Given the description of an element on the screen output the (x, y) to click on. 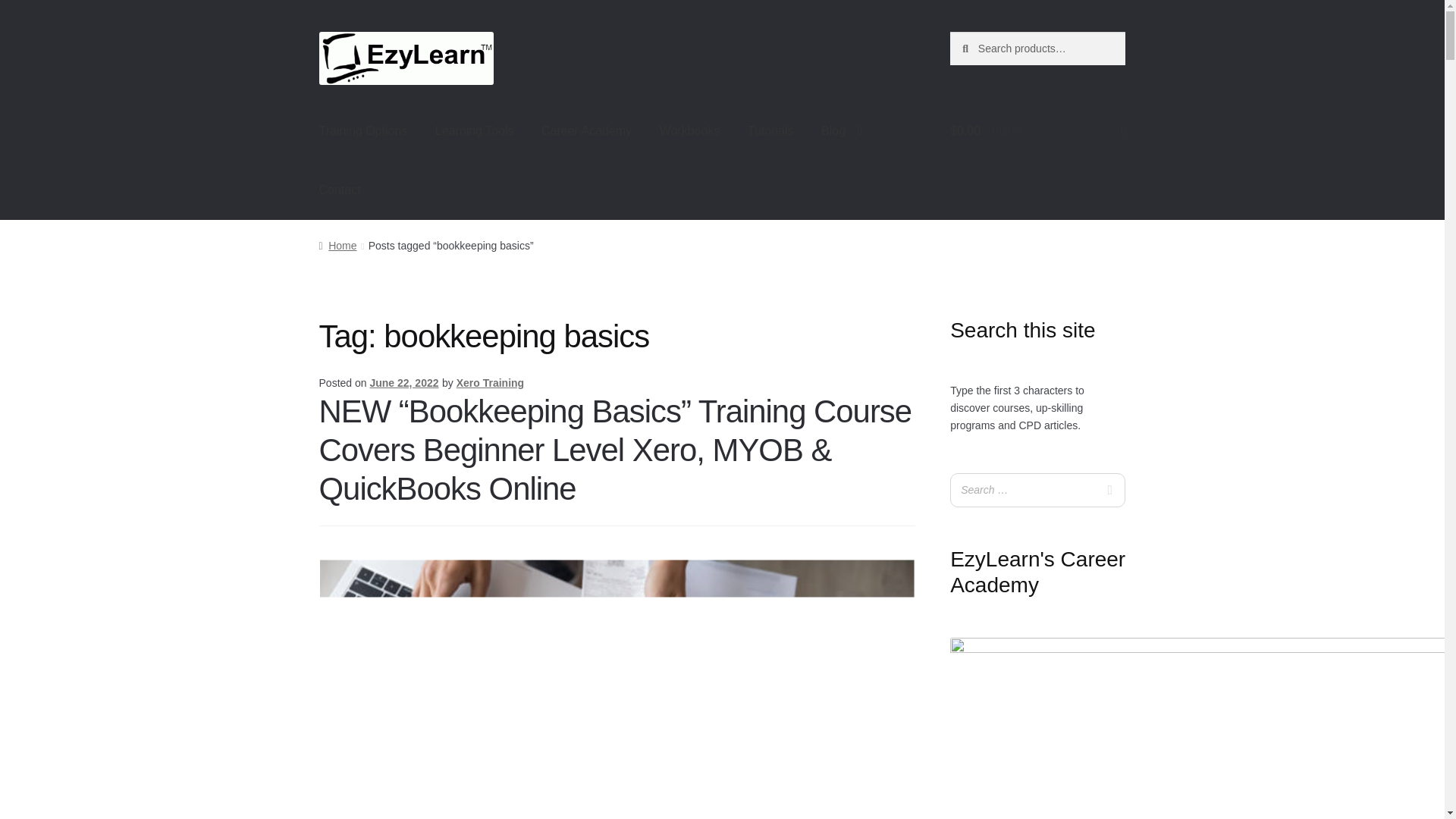
Home (337, 245)
Career Academy (586, 130)
Workbooks (689, 130)
View your shopping cart (1037, 130)
June 22, 2022 (403, 382)
Contact (339, 190)
Tutorials (770, 130)
Blog (842, 130)
Xero Training (490, 382)
